Given the description of an element on the screen output the (x, y) to click on. 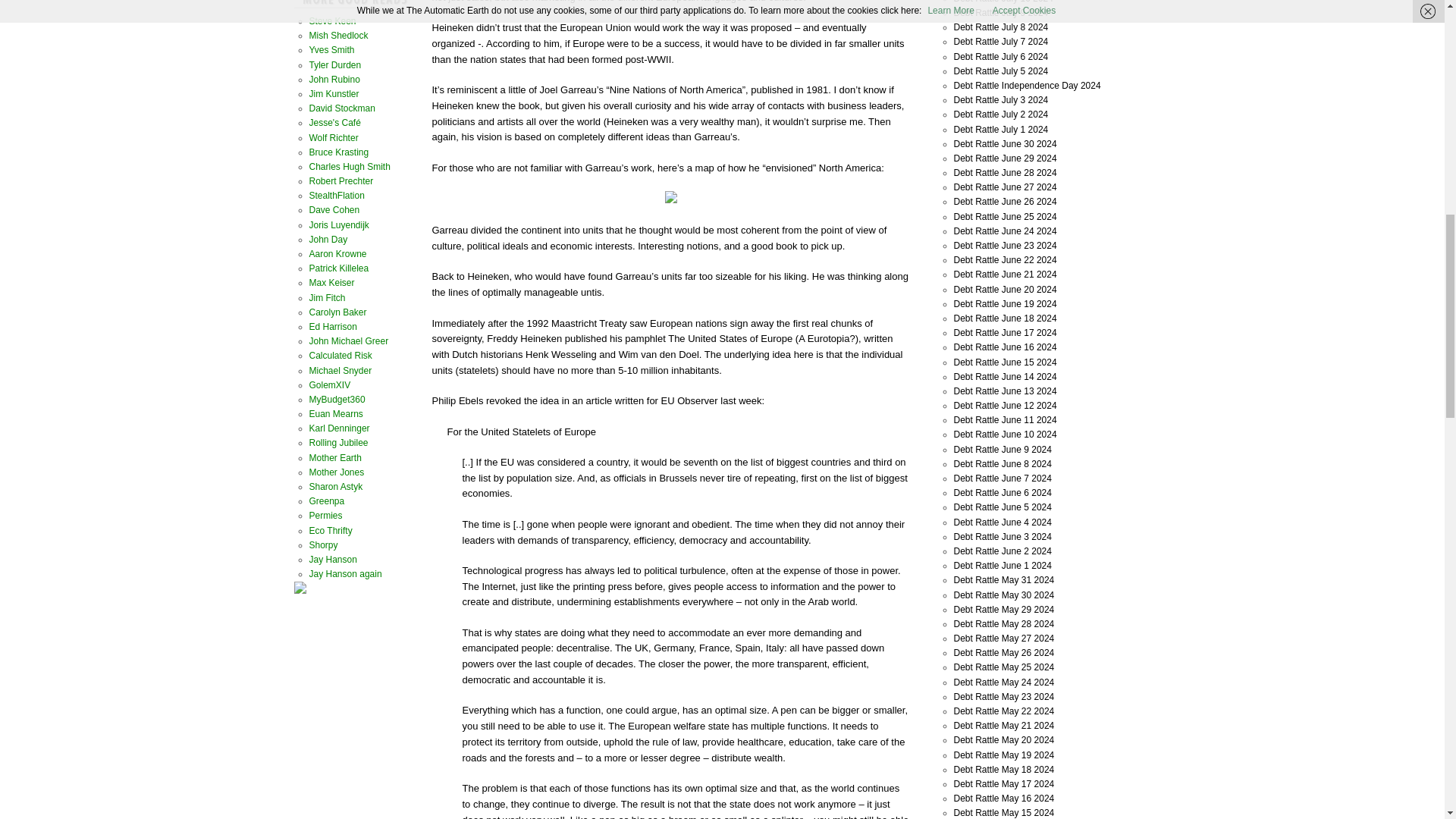
Wolf Richter (333, 136)
Jim Kunstler (333, 93)
John Rubino (333, 79)
Charles Hugh Smith (349, 166)
Bruce Krasting (338, 152)
David Stockman (341, 108)
Steve Keen (332, 20)
Mish Shedlock (338, 35)
Yves Smith (331, 50)
Tyler Durden (334, 64)
